Given the description of an element on the screen output the (x, y) to click on. 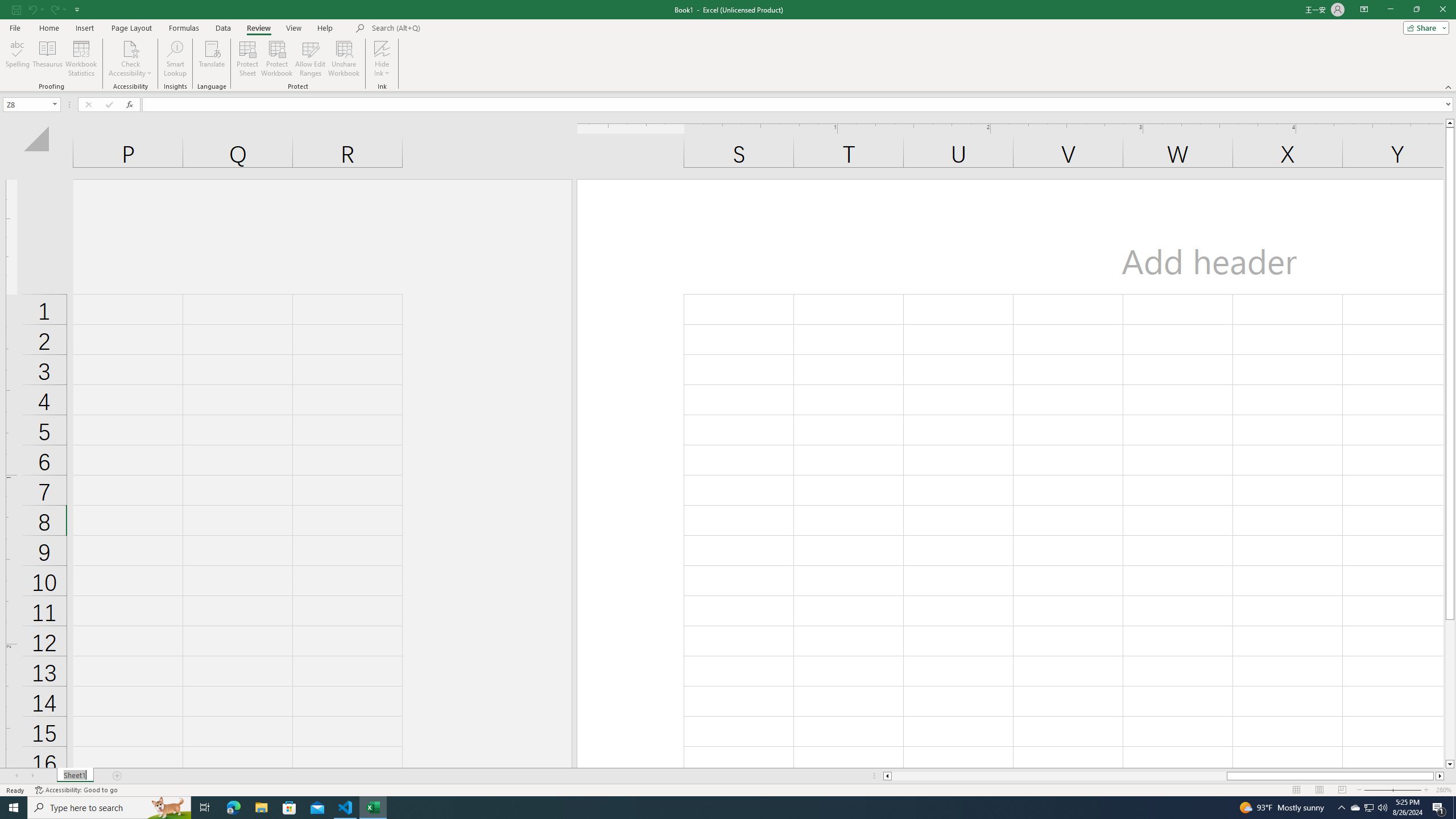
Customize Quick Access Toolbar (77, 9)
Save (16, 9)
Sheet Tab (74, 775)
Line up (1449, 122)
Hide Ink (381, 48)
Column left (886, 775)
Zoom (1392, 790)
Zoom Out (1385, 790)
Allow Edit Ranges (310, 58)
